Given the description of an element on the screen output the (x, y) to click on. 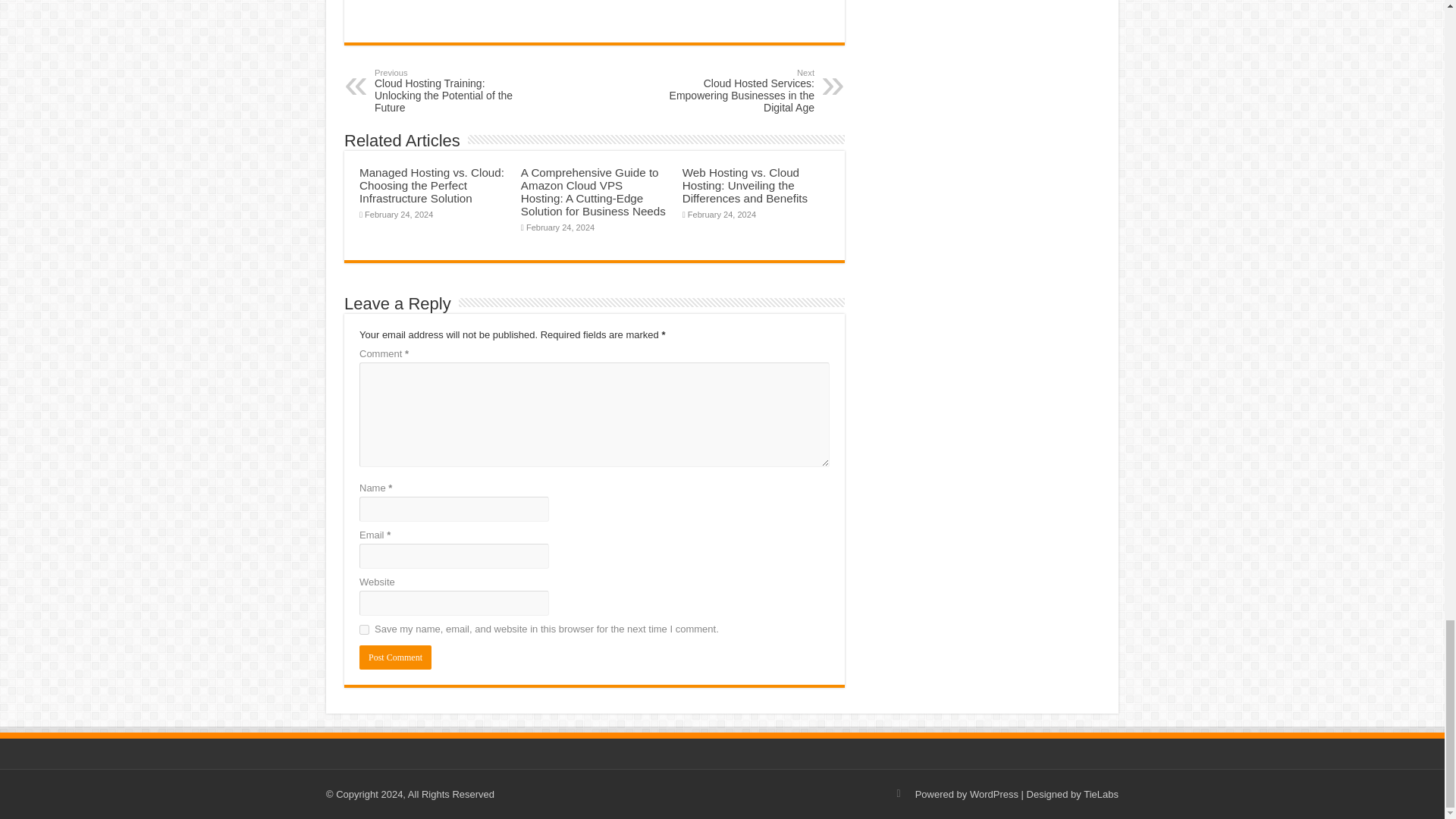
yes (364, 629)
Post Comment (394, 657)
Post Comment (394, 657)
